Given the description of an element on the screen output the (x, y) to click on. 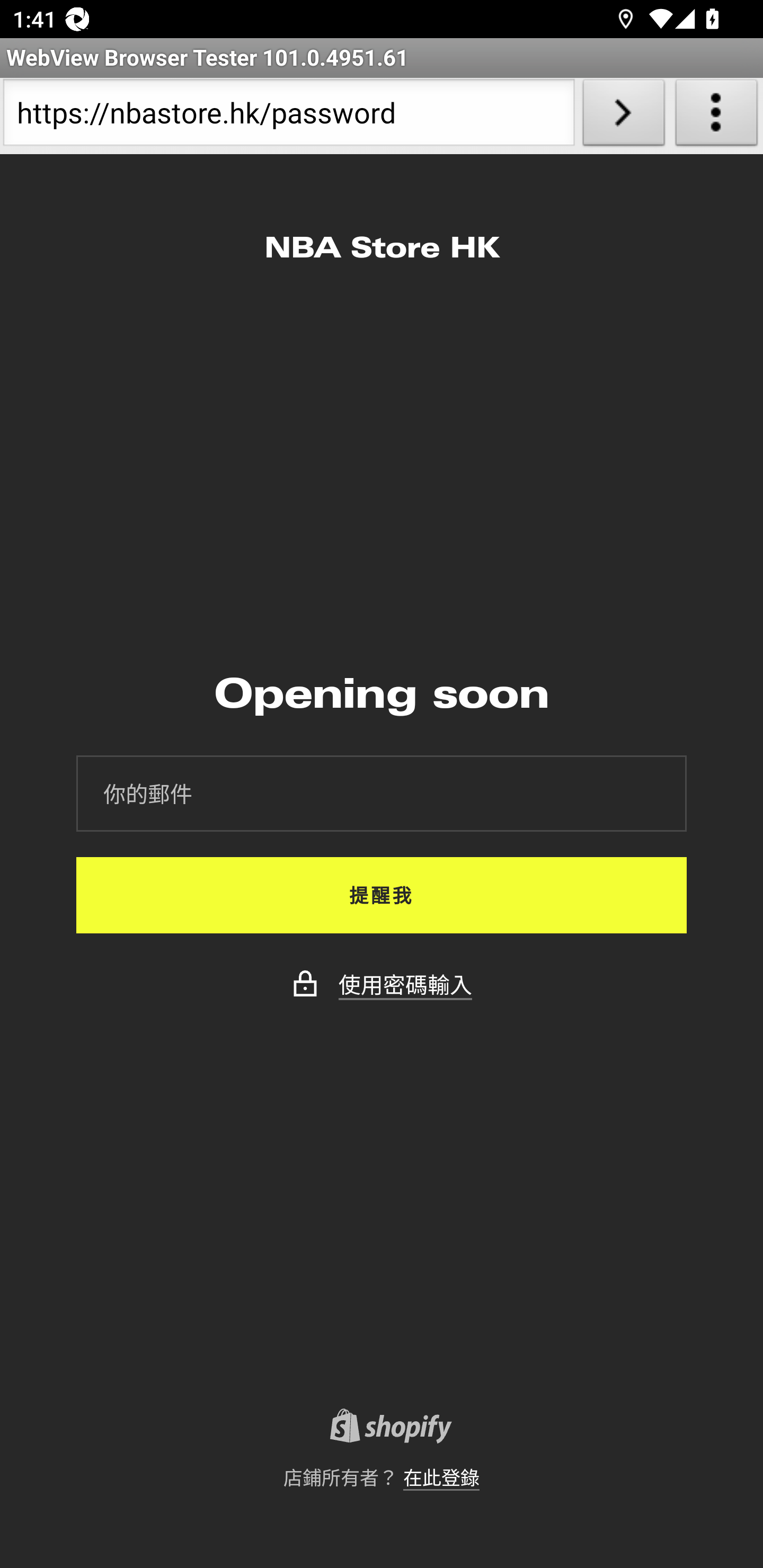
https://nbastore.hk/password (288, 115)
Load URL (623, 115)
About WebView (716, 115)
提醒我 (381, 895)
使用密碼輸入 (404, 984)
Shopify (381, 1429)
在此登錄 (440, 1476)
